Given the description of an element on the screen output the (x, y) to click on. 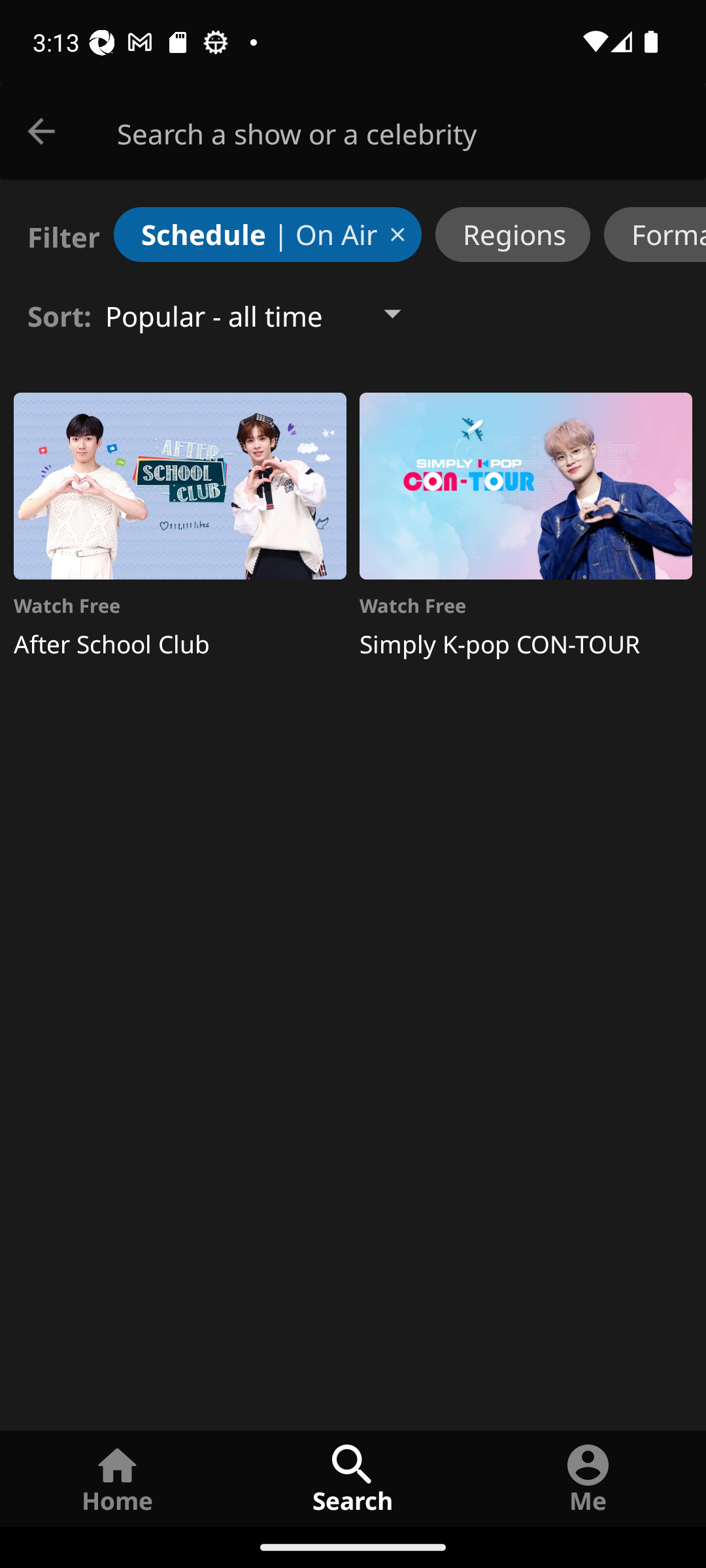
Search a show or a celebrity (411, 131)
Regions filter_button_countries (512, 233)
Formats filter_button_container_type (655, 233)
Popular - all time (269, 313)
Home (117, 1478)
Me (588, 1478)
